Given the description of an element on the screen output the (x, y) to click on. 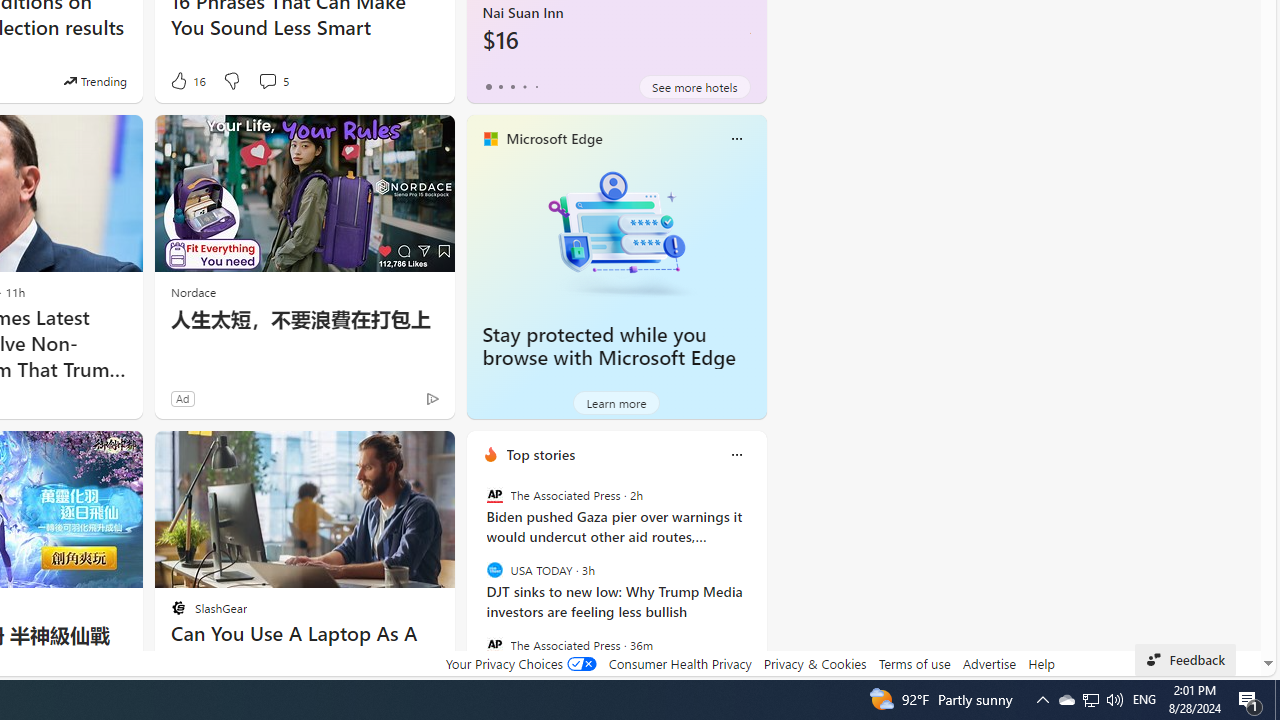
16 Like (186, 80)
Stay protected while you browse with Microsoft Edge (616, 232)
Stay protected while you browse with Microsoft Edge (609, 346)
Top stories (540, 454)
Class: icon-img (736, 454)
This story is trending (95, 80)
tab-2 (511, 86)
Microsoft Edge (553, 139)
previous (476, 583)
Your Privacy Choices (520, 663)
Terms of use (914, 663)
